Given the description of an element on the screen output the (x, y) to click on. 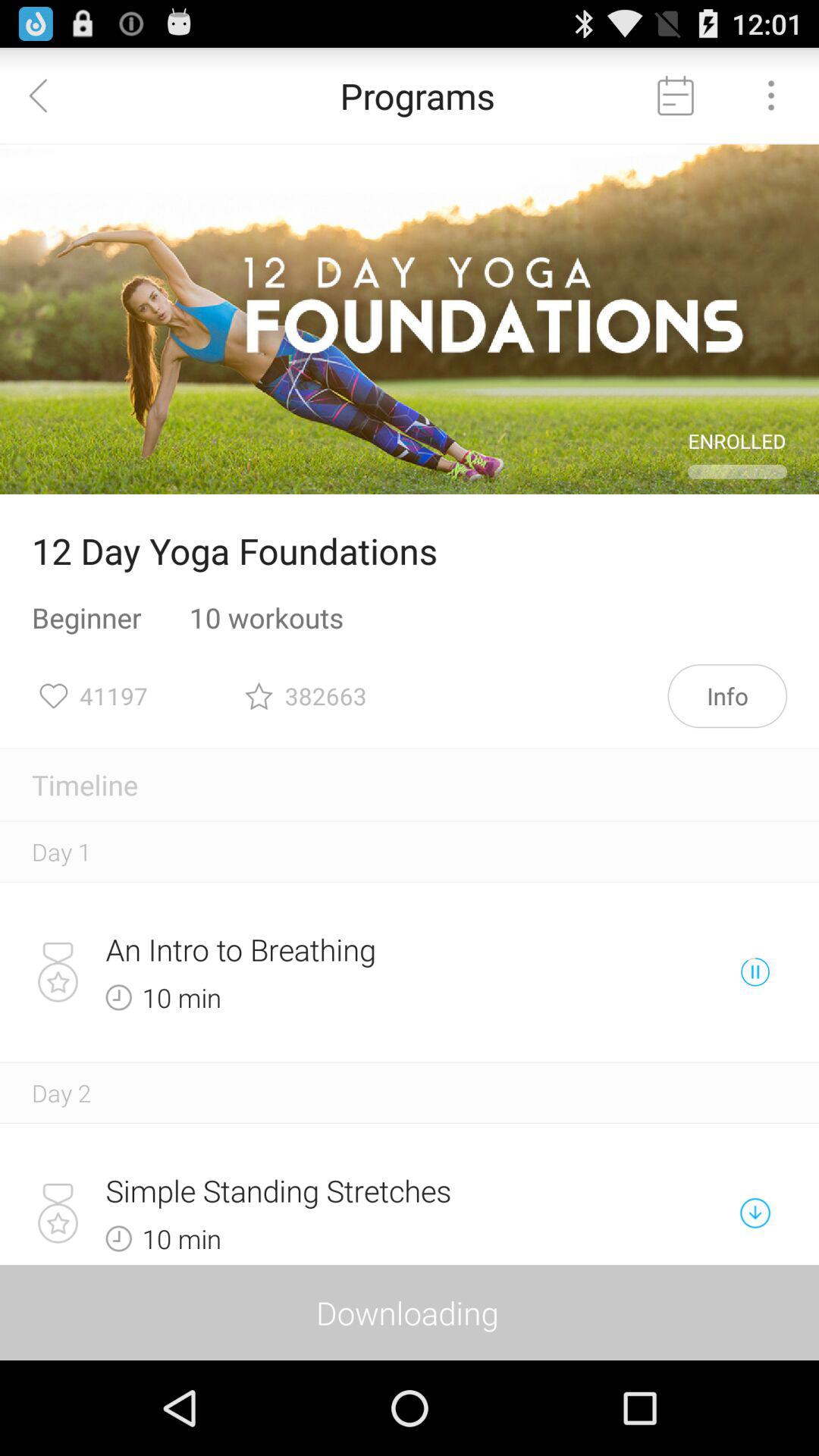
choose item at the top left corner (47, 95)
